Given the description of an element on the screen output the (x, y) to click on. 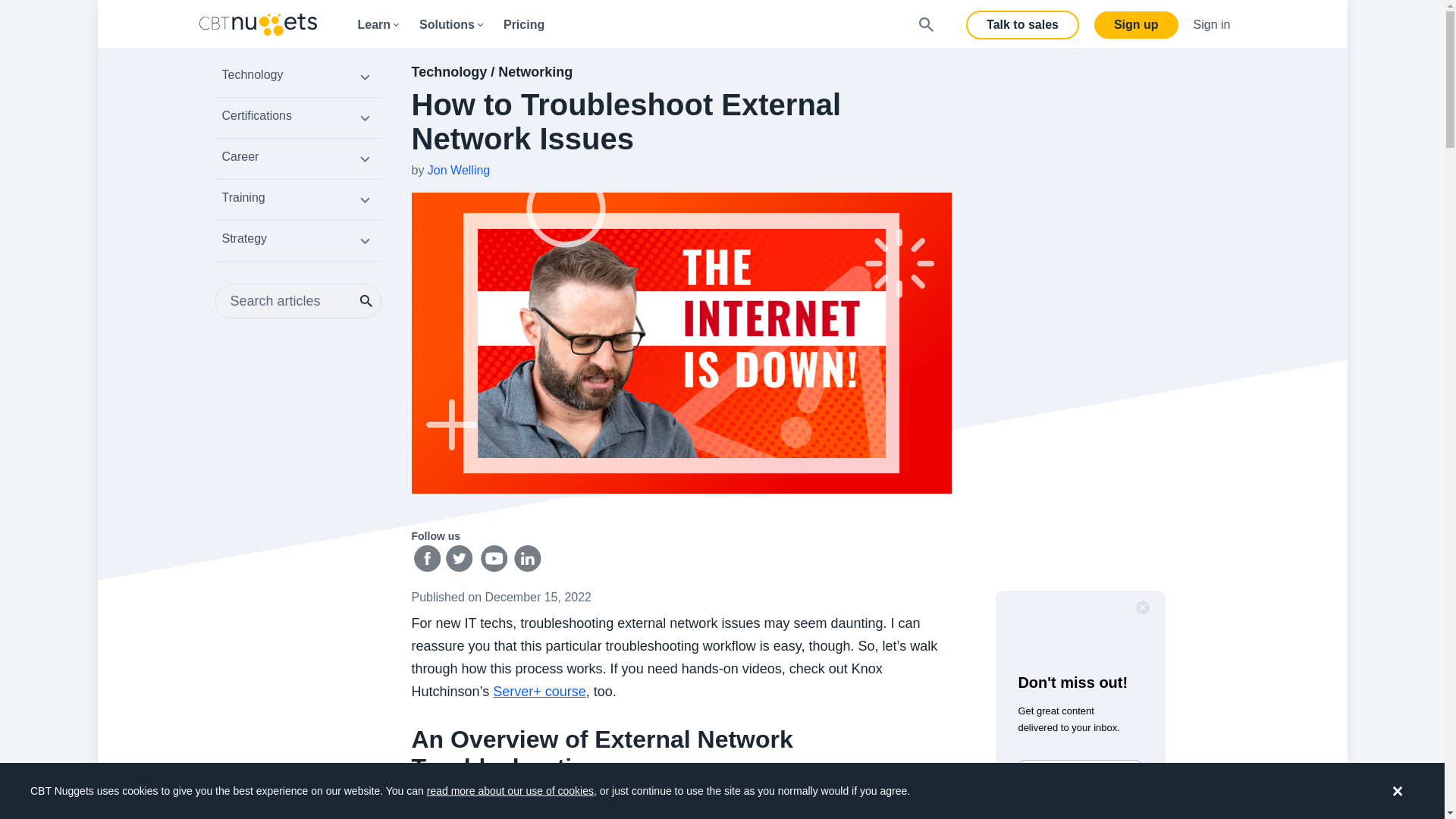
Pricing (523, 24)
Technology (297, 78)
Learn (378, 24)
Sign up (1135, 23)
Talk to sales (1022, 24)
Sign in (1211, 24)
read more about our use of cookies (510, 790)
Solutions (451, 24)
